Given the description of an element on the screen output the (x, y) to click on. 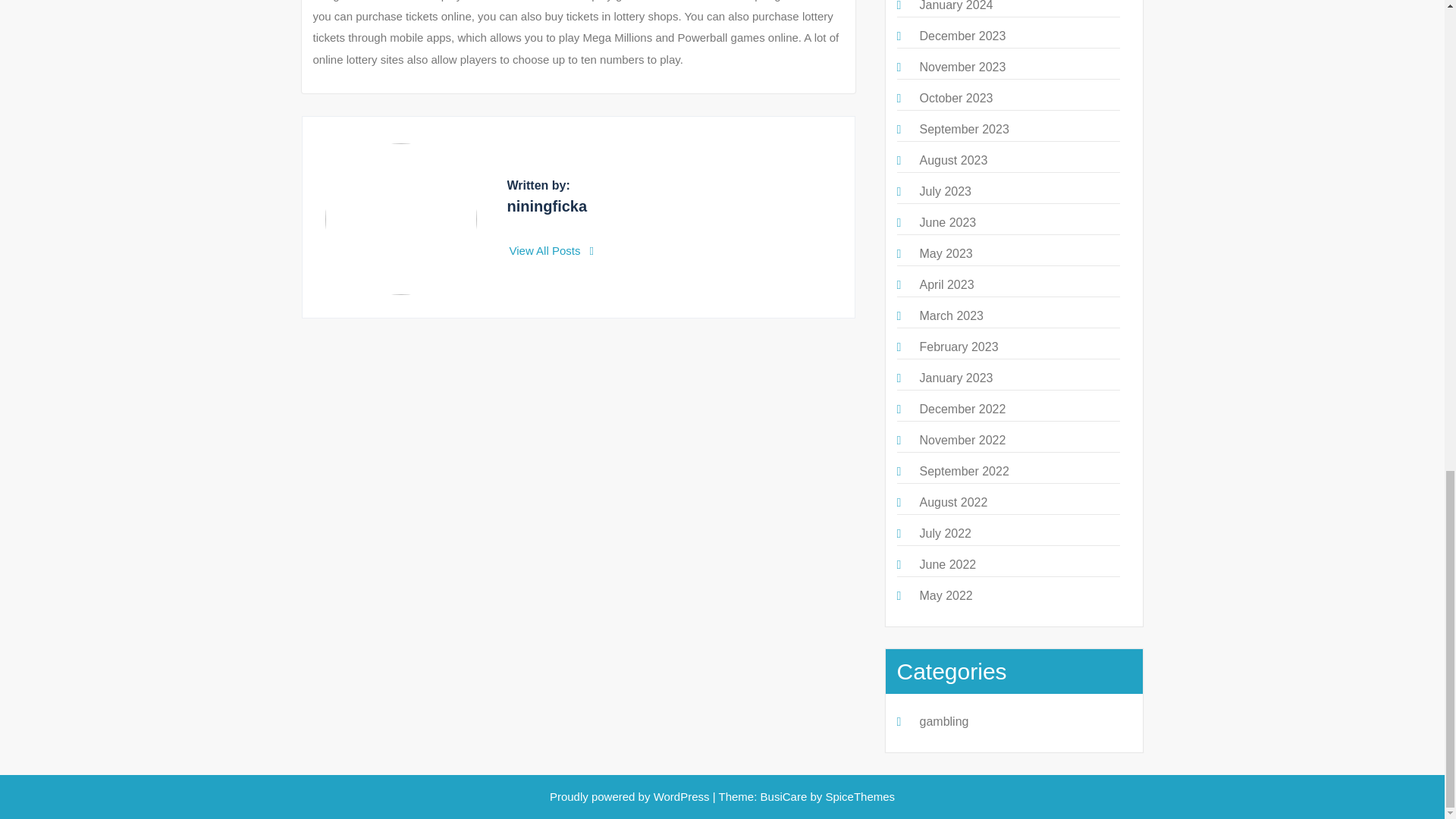
March 2023 (951, 315)
June 2023 (946, 222)
December 2022 (962, 408)
June 2022 (946, 563)
View All Posts (551, 250)
October 2023 (955, 97)
September 2023 (963, 128)
November 2022 (962, 440)
July 2023 (944, 191)
August 2022 (952, 502)
